Given the description of an element on the screen output the (x, y) to click on. 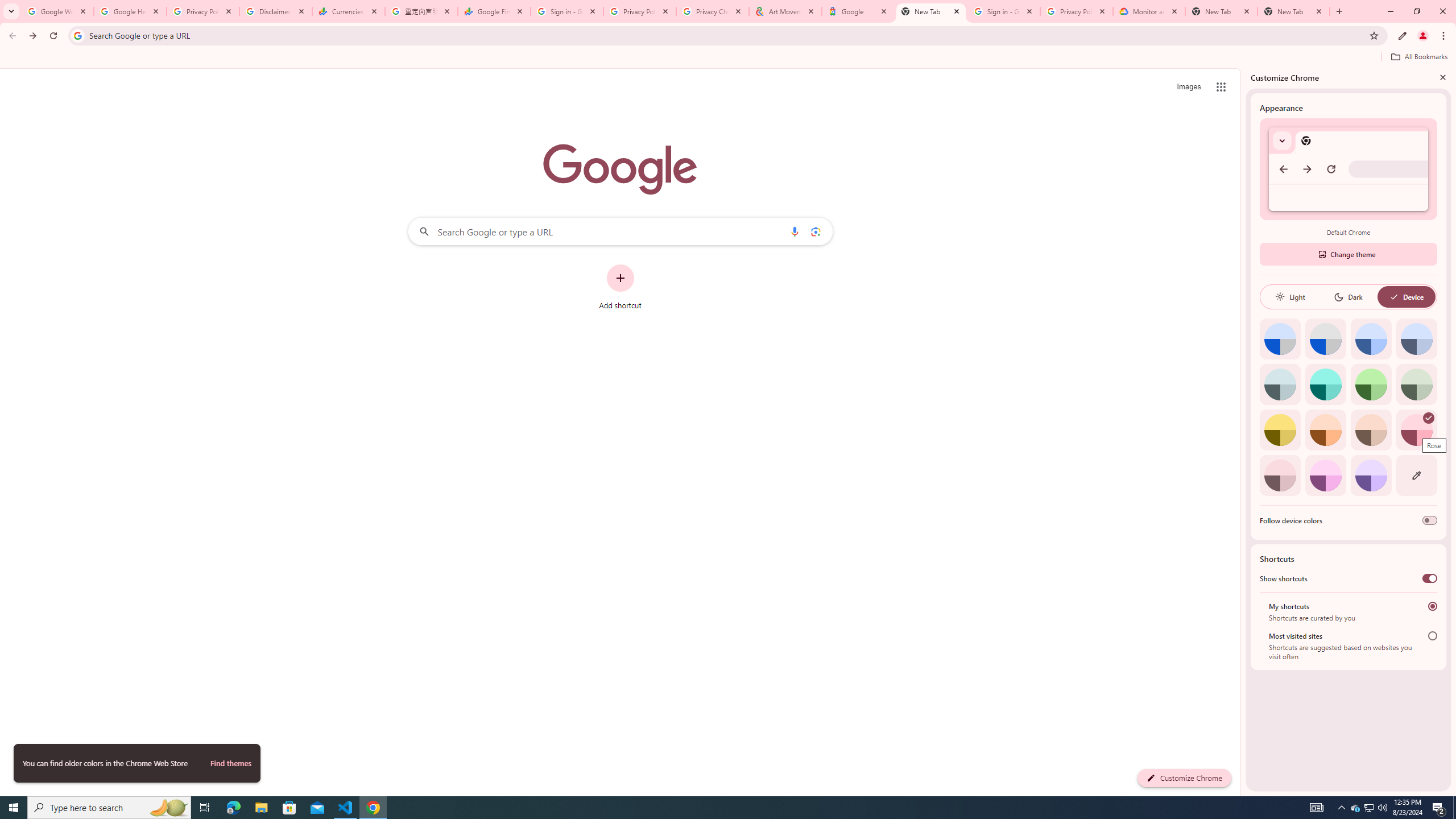
Privacy Checkup (712, 11)
Light (1289, 296)
Viridian (1416, 383)
Currencies - Google Finance (348, 11)
AutomationID: svg (1428, 417)
Default color (1279, 338)
Grey default color (1325, 338)
Google (857, 11)
